Given the description of an element on the screen output the (x, y) to click on. 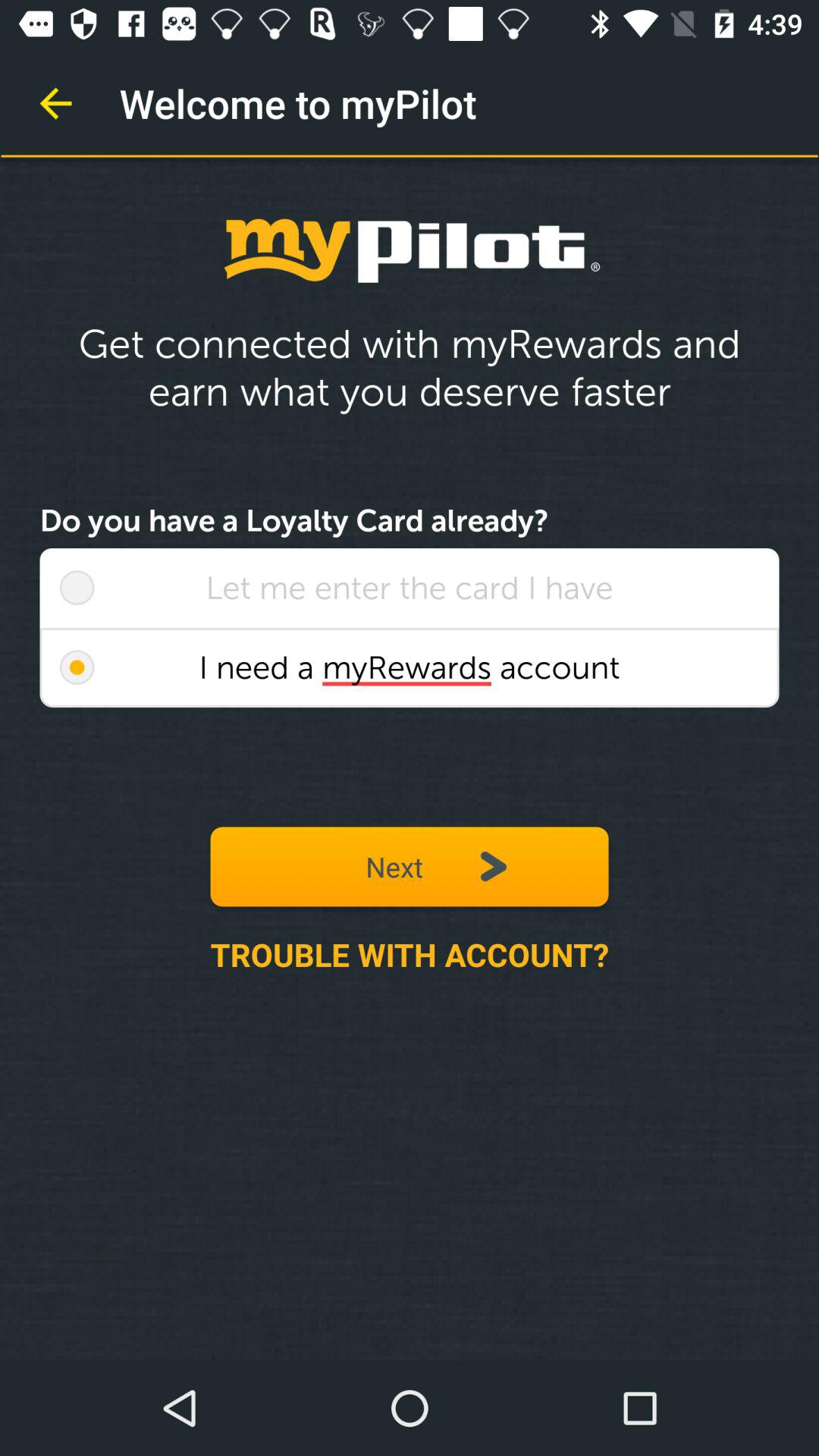
turn on item at the top left corner (55, 103)
